Given the description of an element on the screen output the (x, y) to click on. 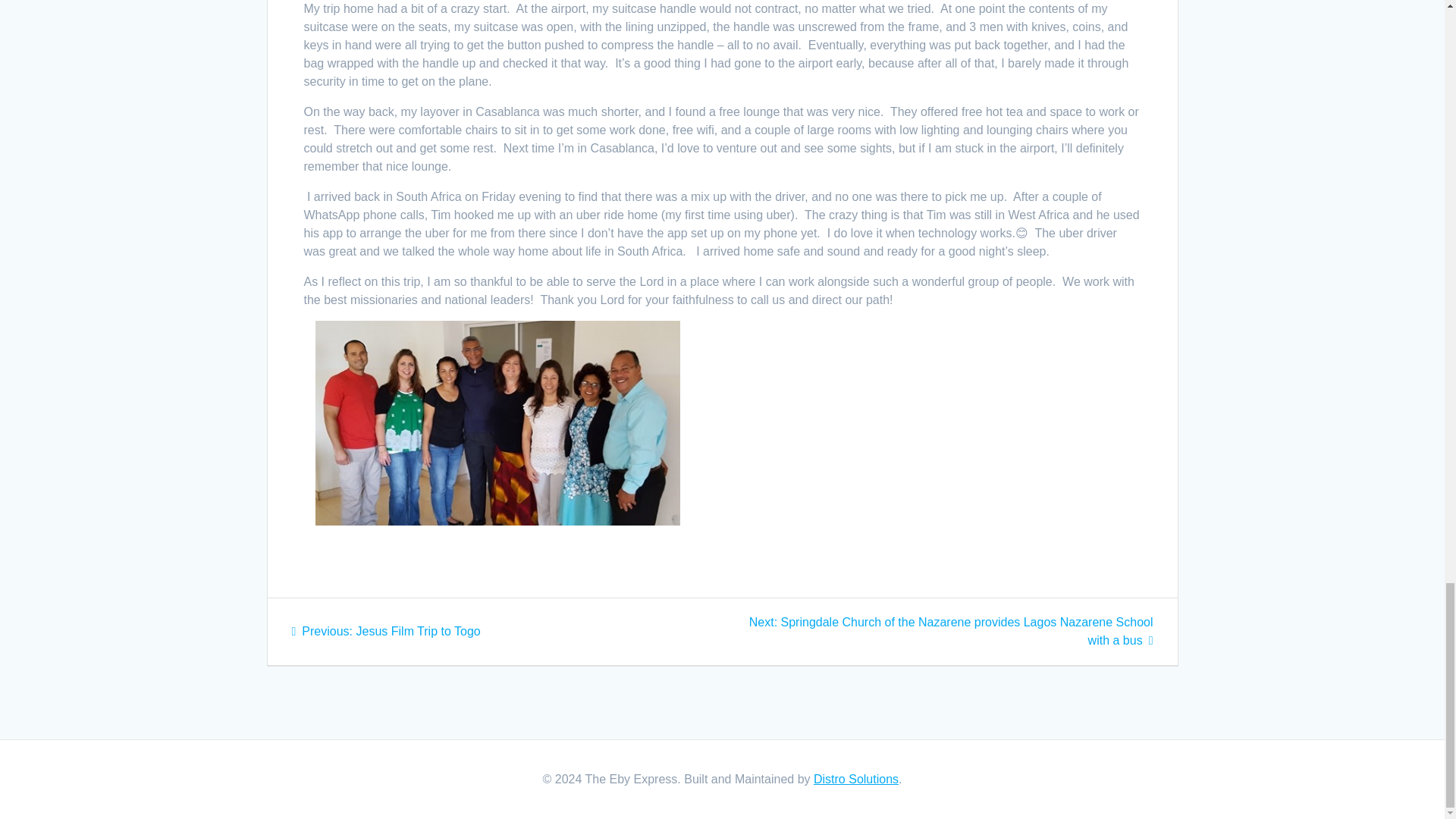
Distro Solutions (385, 631)
